Given the description of an element on the screen output the (x, y) to click on. 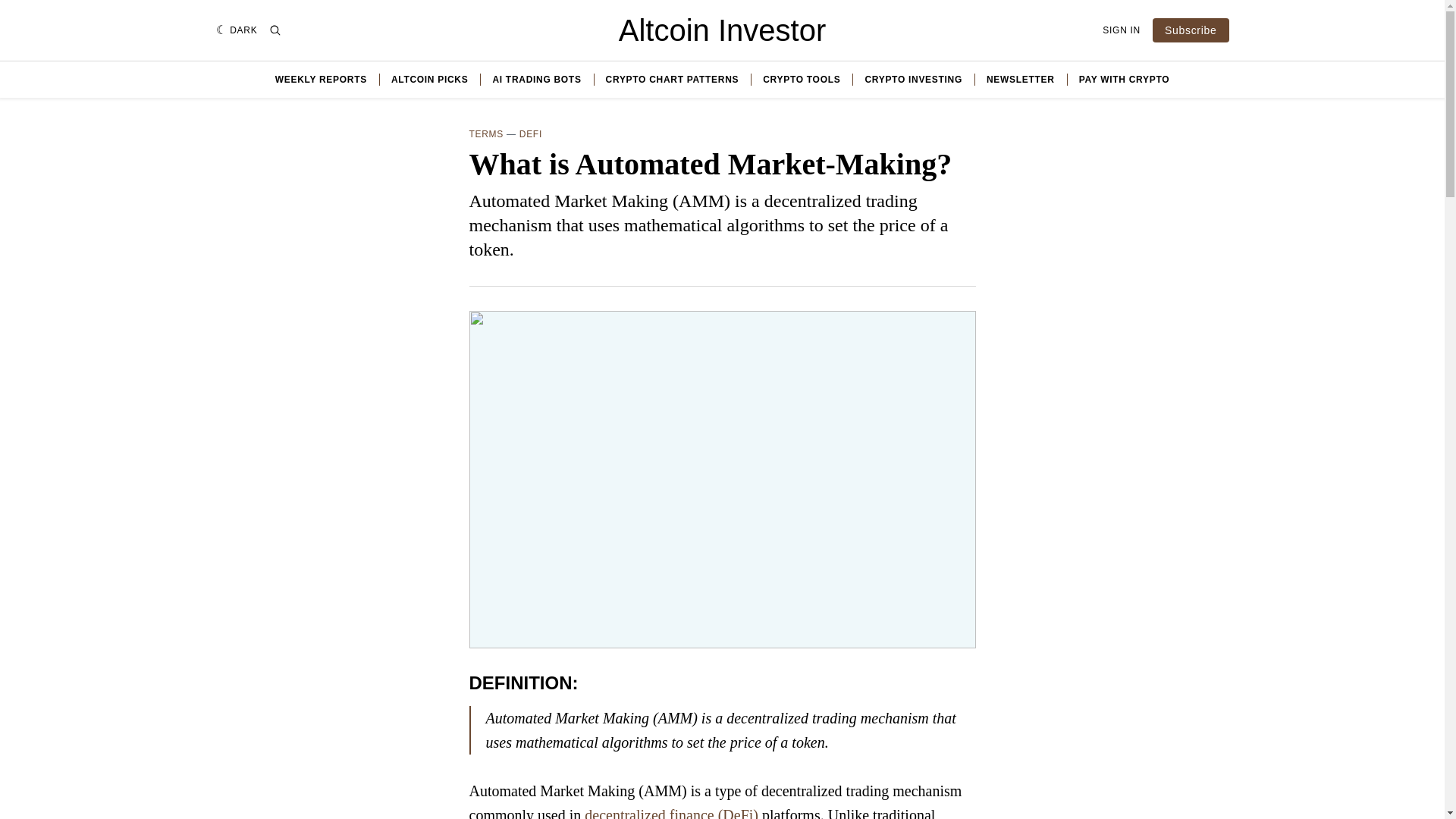
DEFI (530, 133)
Altcoin Investor (721, 29)
CRYPTO CHART PATTERNS (672, 79)
NEWSLETTER (1020, 79)
ALTCOIN PICKS (429, 79)
TERMS (485, 133)
DARK (236, 29)
PAY WITH CRYPTO (1124, 79)
CRYPTO INVESTING (913, 79)
AI TRADING BOTS (536, 79)
